Given the description of an element on the screen output the (x, y) to click on. 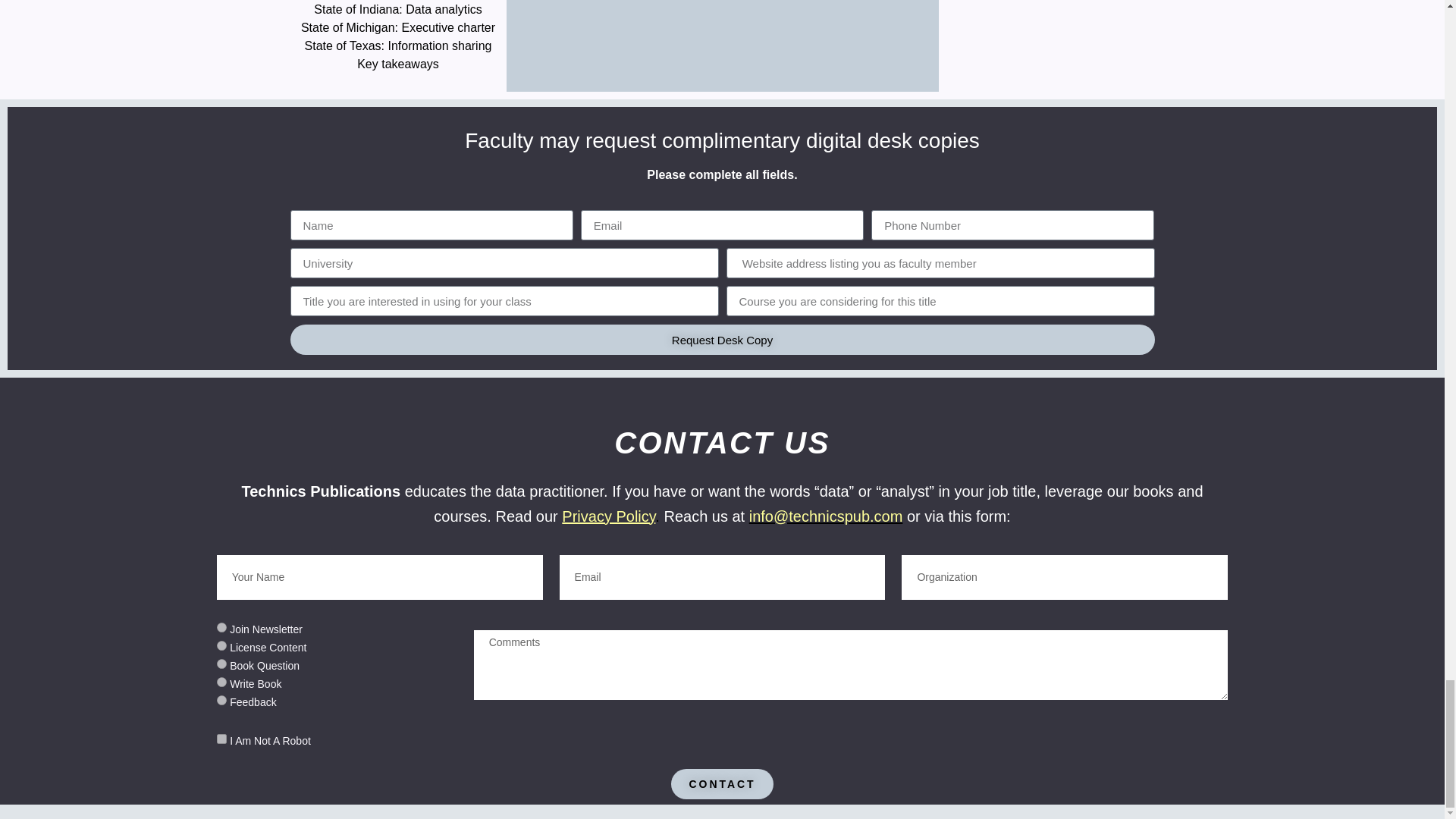
Join newsletter (221, 627)
Feedback (221, 700)
Write book (221, 682)
Book question (221, 664)
Request Desk Copy (721, 339)
I am not a robot (221, 738)
License content (221, 645)
Privacy Policy. (610, 515)
